Given the description of an element on the screen output the (x, y) to click on. 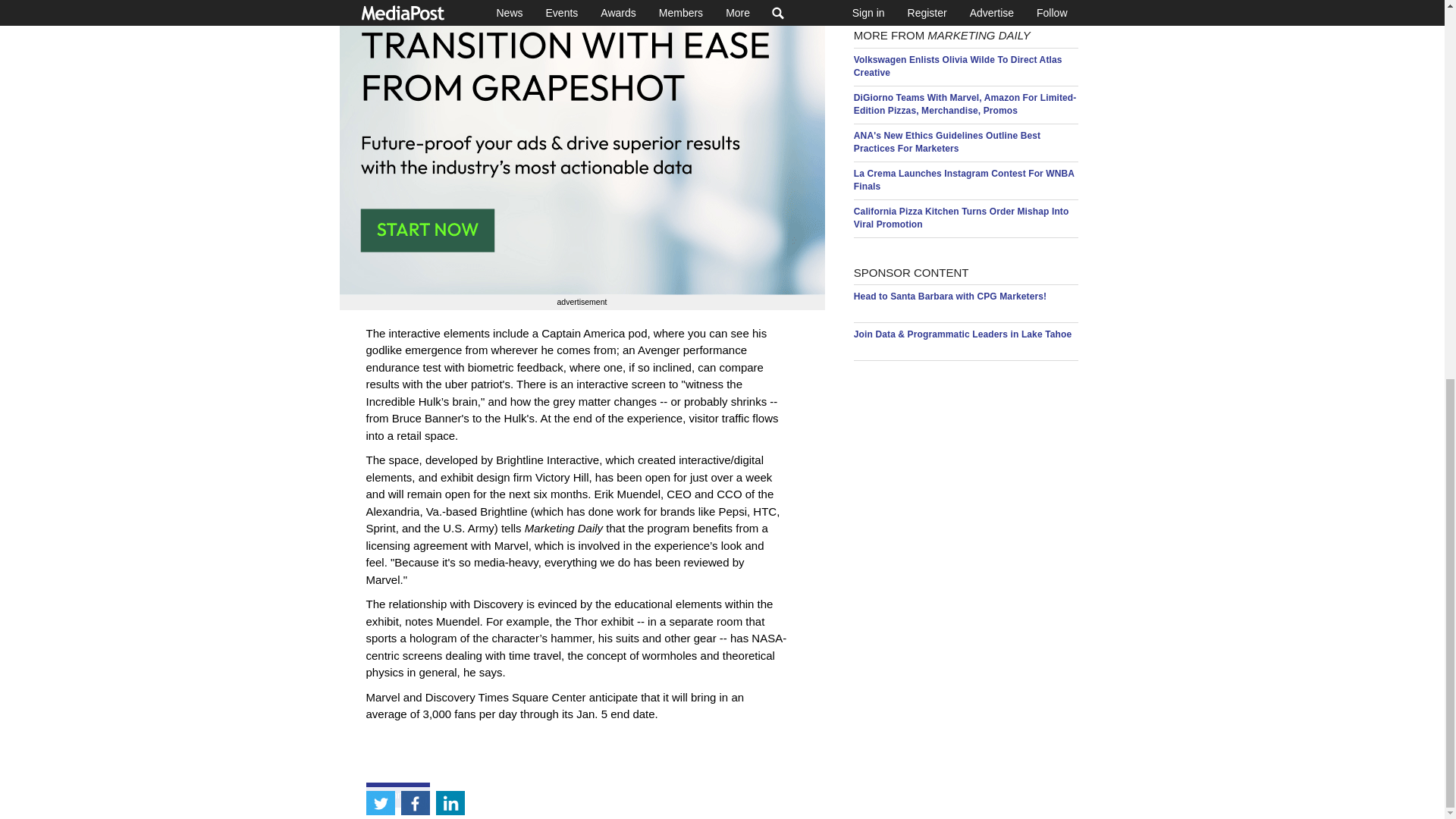
Share on LinkedIn (449, 99)
Share on Facebook (414, 99)
Share on Twitter (379, 99)
